Given the description of an element on the screen output the (x, y) to click on. 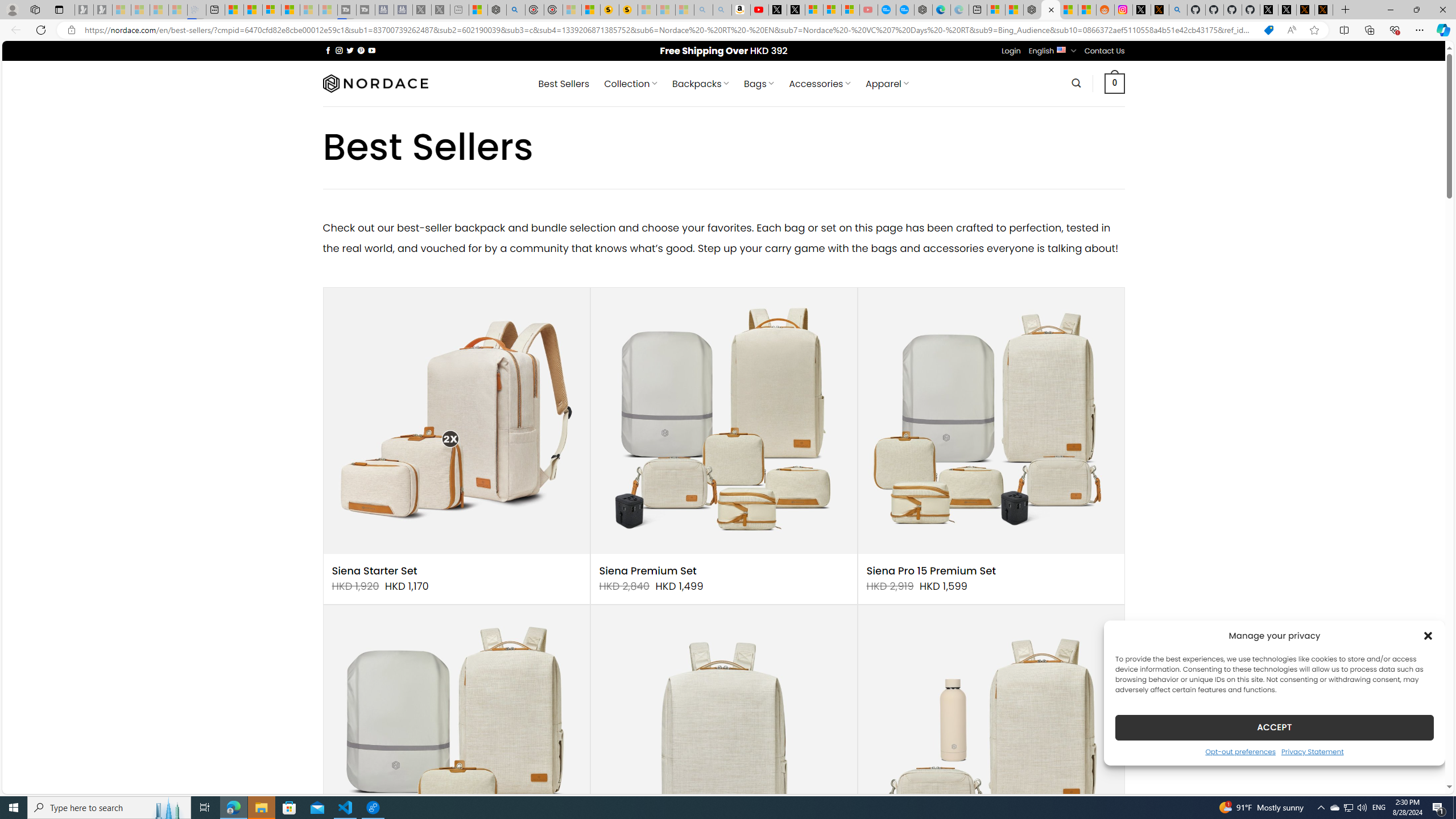
Opinion: Op-Ed and Commentary - USA TODAY (887, 9)
This site has coupons! Shopping in Microsoft Edge (1268, 29)
Siena Premium Set (647, 571)
Siena Starter Set (374, 571)
